Given the description of an element on the screen output the (x, y) to click on. 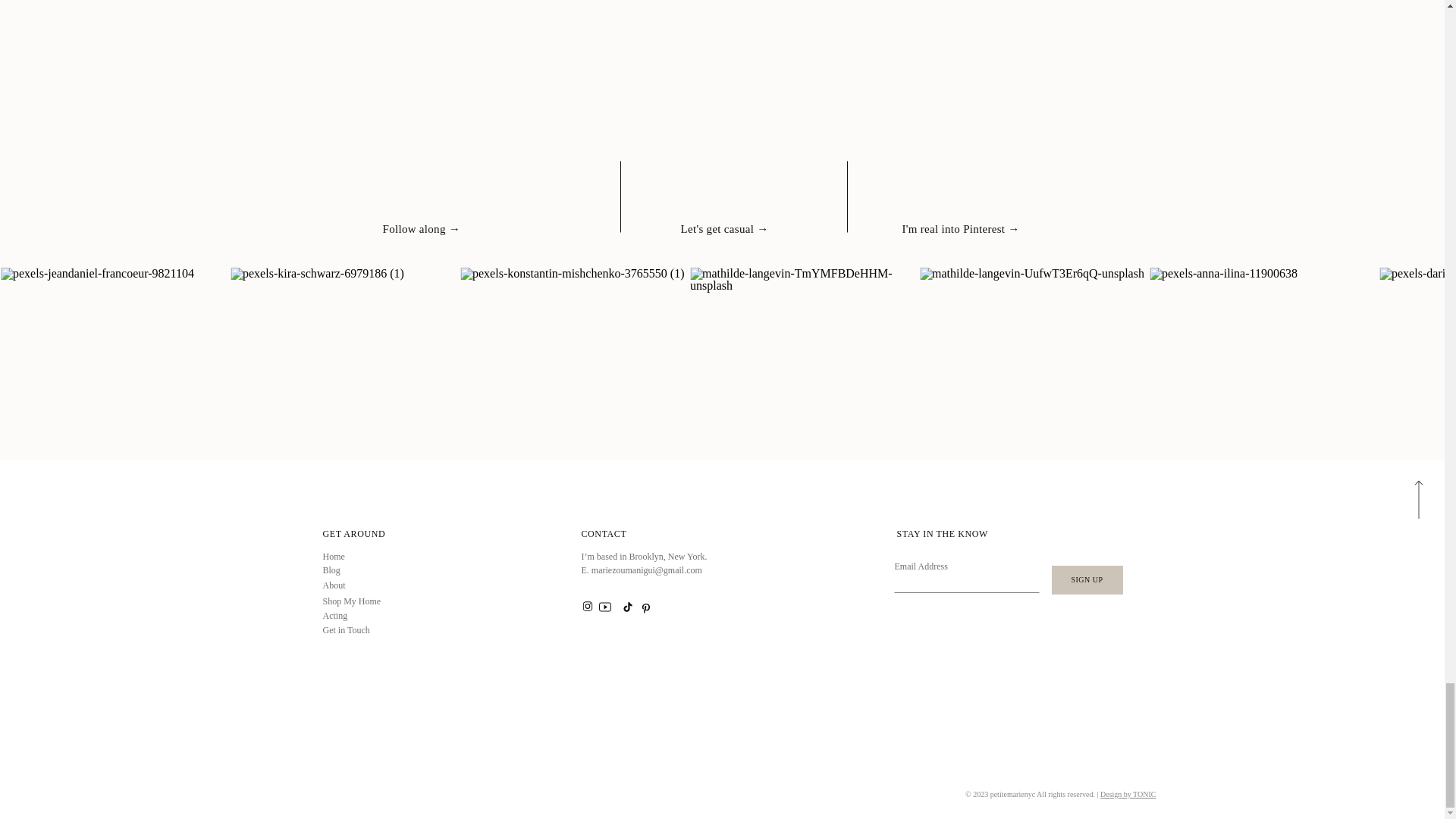
pexels-jeandaniel-francoeur-9821104 (115, 382)
